Given the description of an element on the screen output the (x, y) to click on. 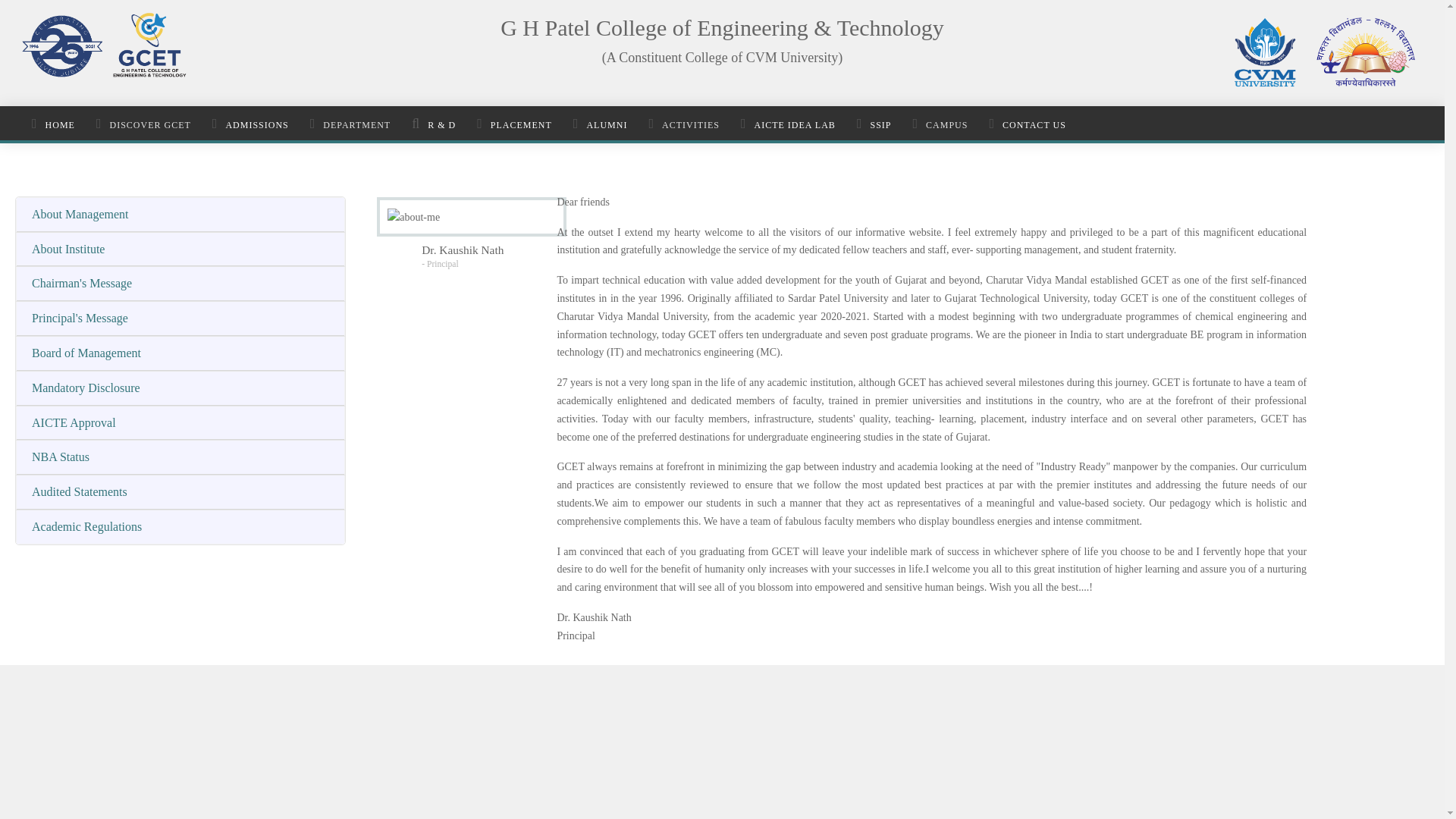
ALUMNI (600, 123)
HOME (53, 123)
ADMISSIONS (250, 123)
PLACEMENT (513, 123)
